Given the description of an element on the screen output the (x, y) to click on. 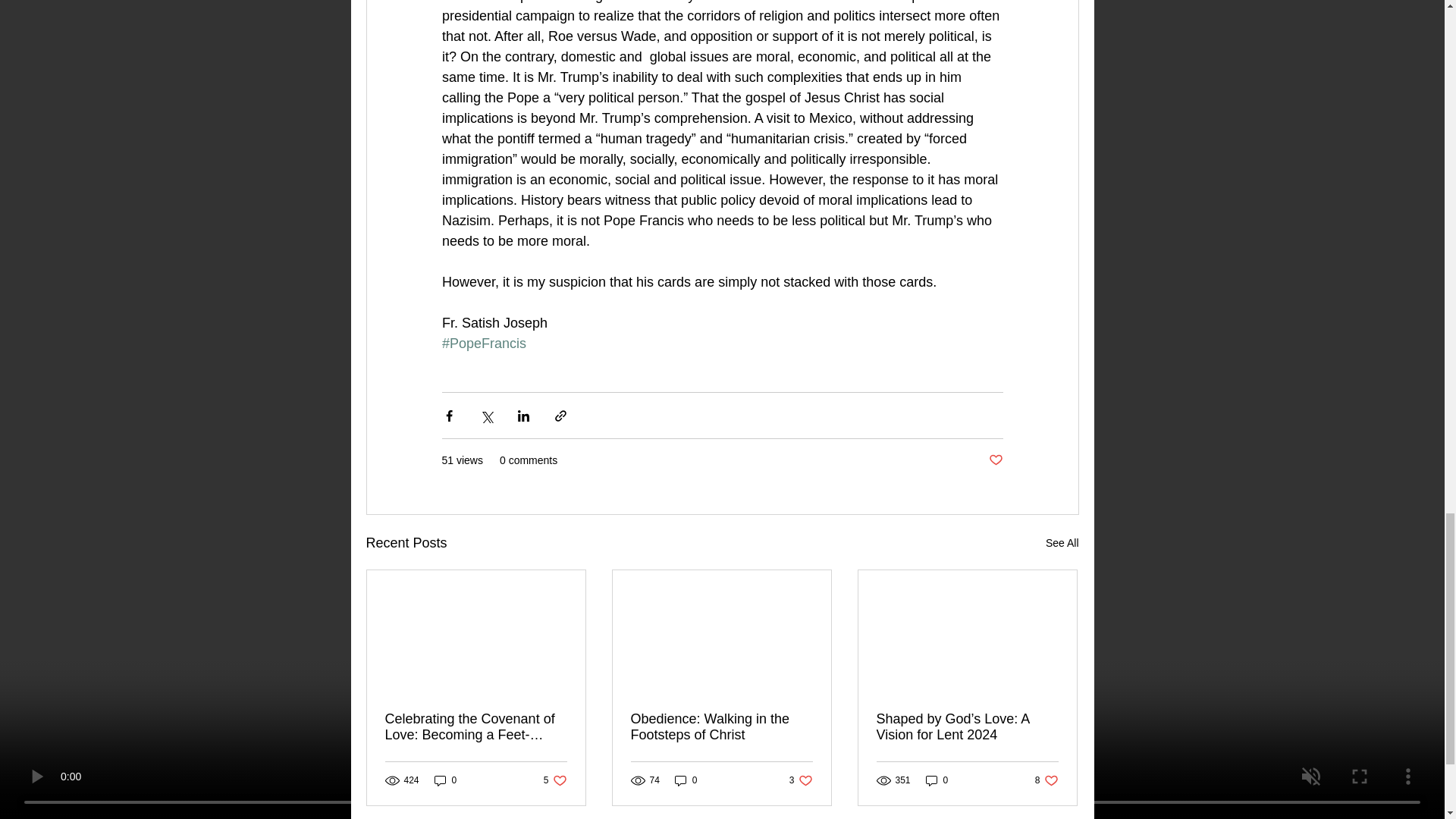
0 (445, 780)
Post not marked as liked (1046, 780)
Obedience: Walking in the Footsteps of Christ (995, 460)
See All (721, 726)
0 (800, 780)
0 (1061, 543)
